Given the description of an element on the screen output the (x, y) to click on. 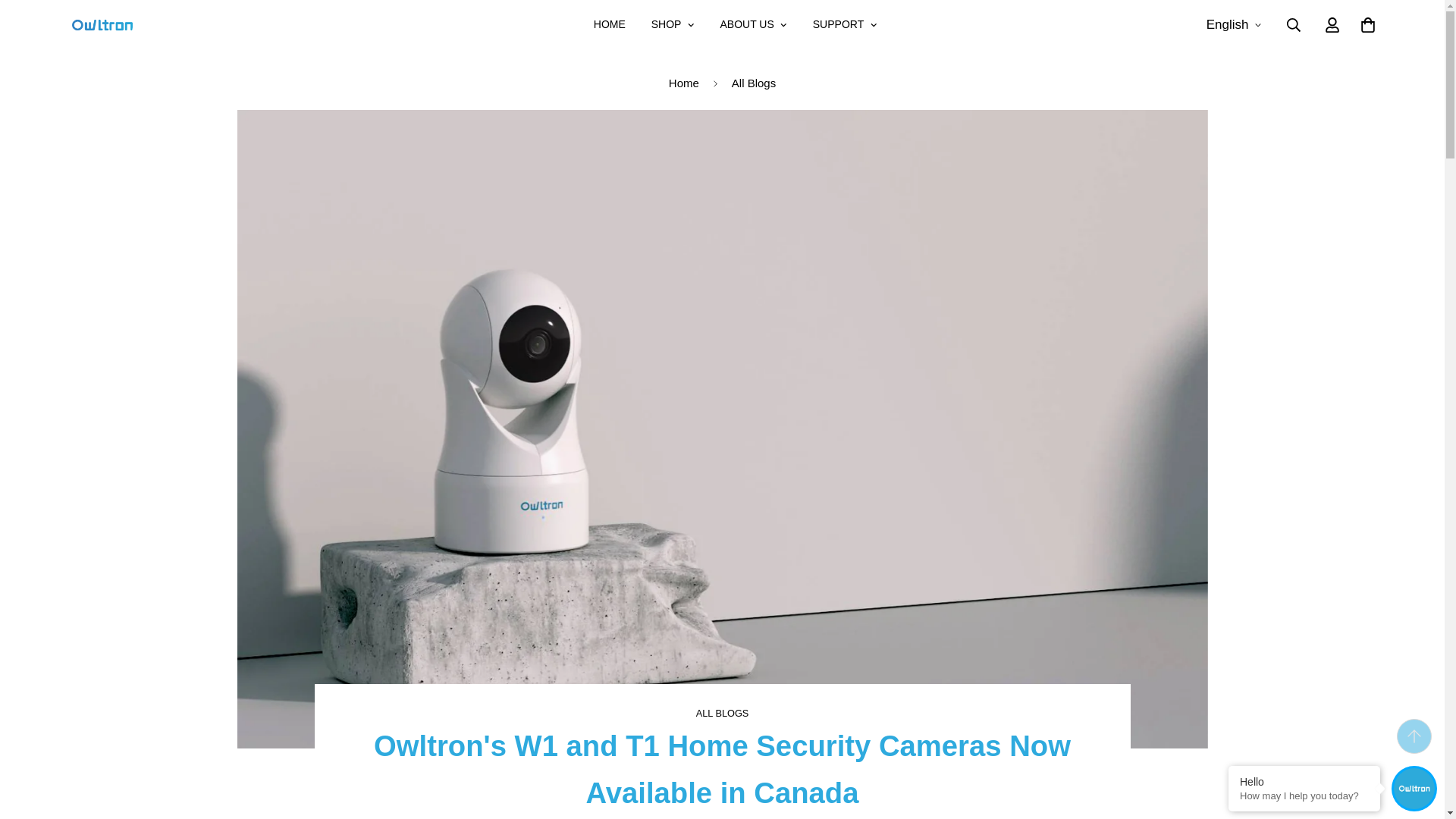
Owltron (101, 24)
SHOP (673, 24)
Back to the home page (683, 83)
How may I help you today? (1304, 795)
SUPPORT (844, 24)
Hello (1304, 781)
HOME (734, 24)
ABOUT US (609, 24)
